Given the description of an element on the screen output the (x, y) to click on. 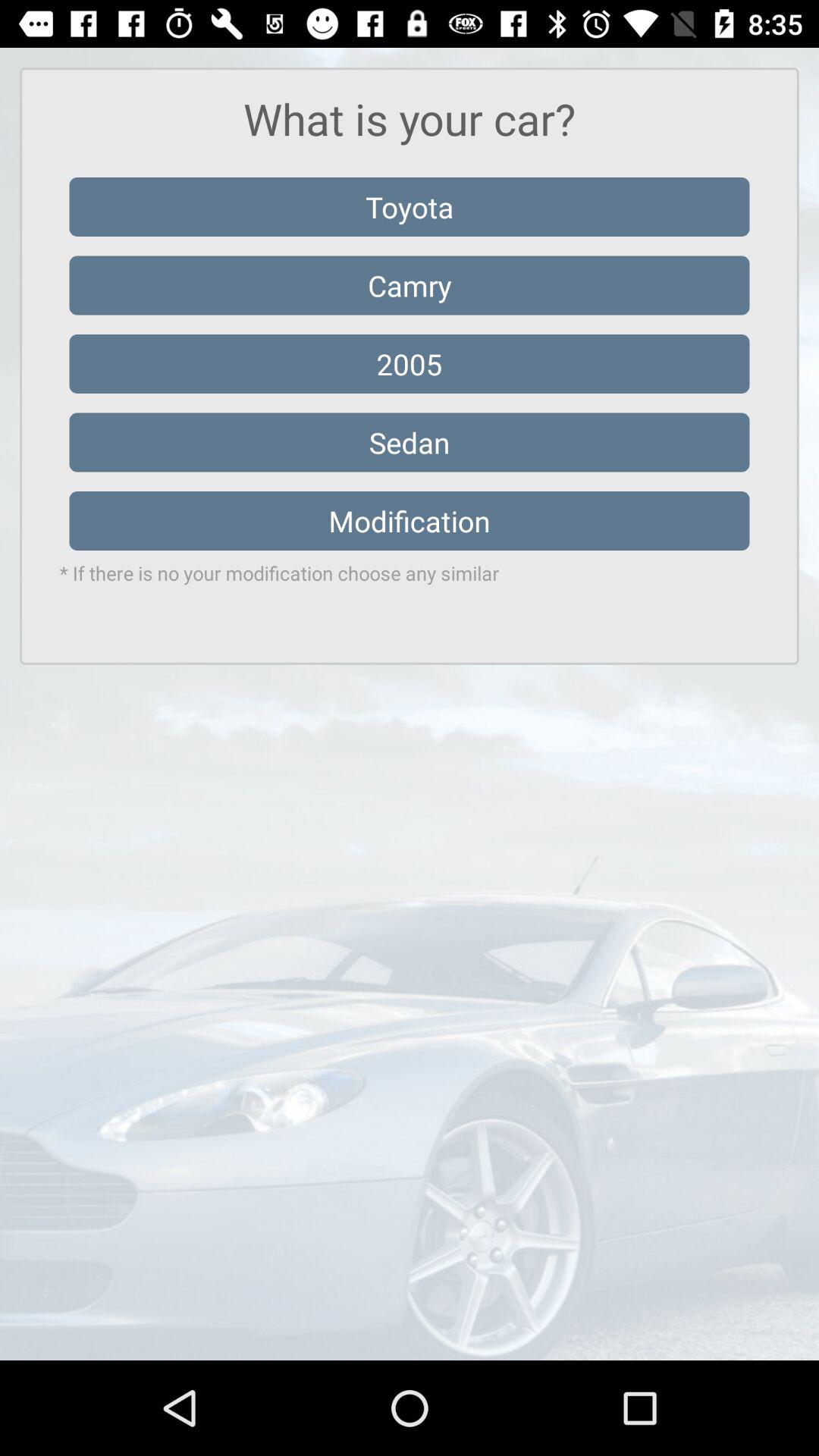
tap icon above modification (409, 442)
